Given the description of an element on the screen output the (x, y) to click on. 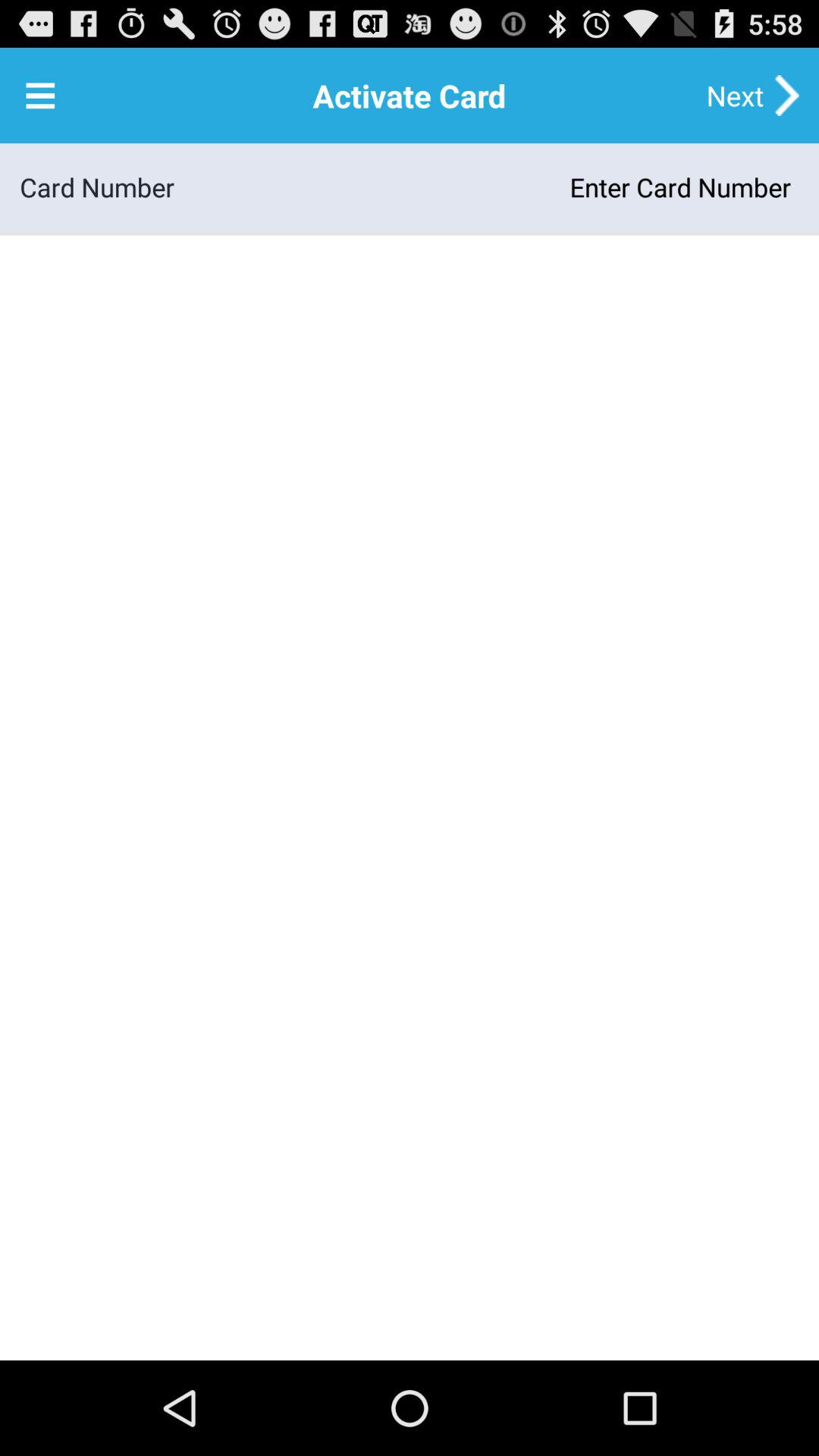
choose the next button (735, 95)
